Given the description of an element on the screen output the (x, y) to click on. 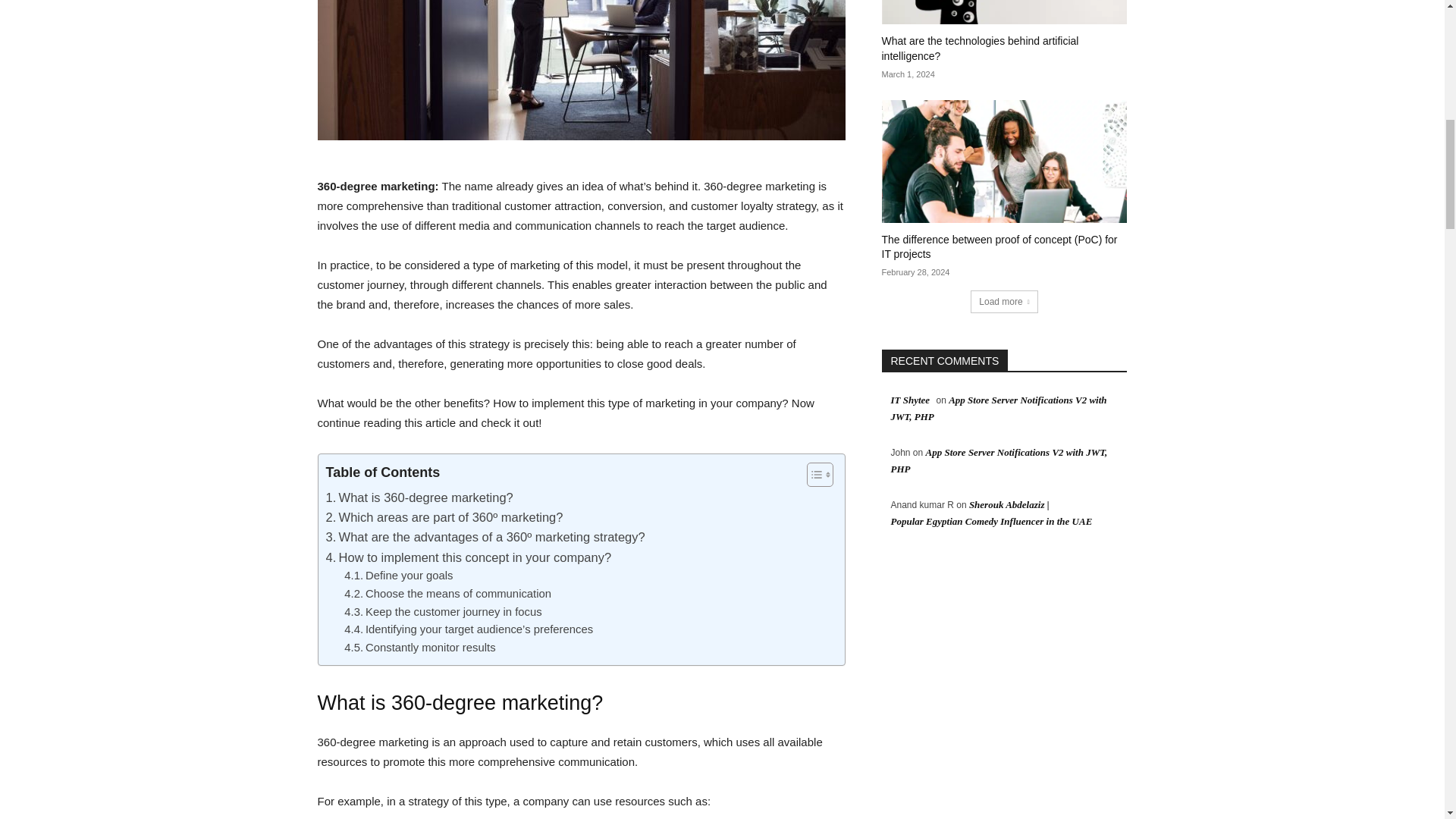
What is 360-degree marketing? (419, 496)
pexels-the-coach-space-2977547 (580, 70)
What is 360-degree marketing? (419, 496)
How to implement this concept in your company? (468, 557)
